Given the description of an element on the screen output the (x, y) to click on. 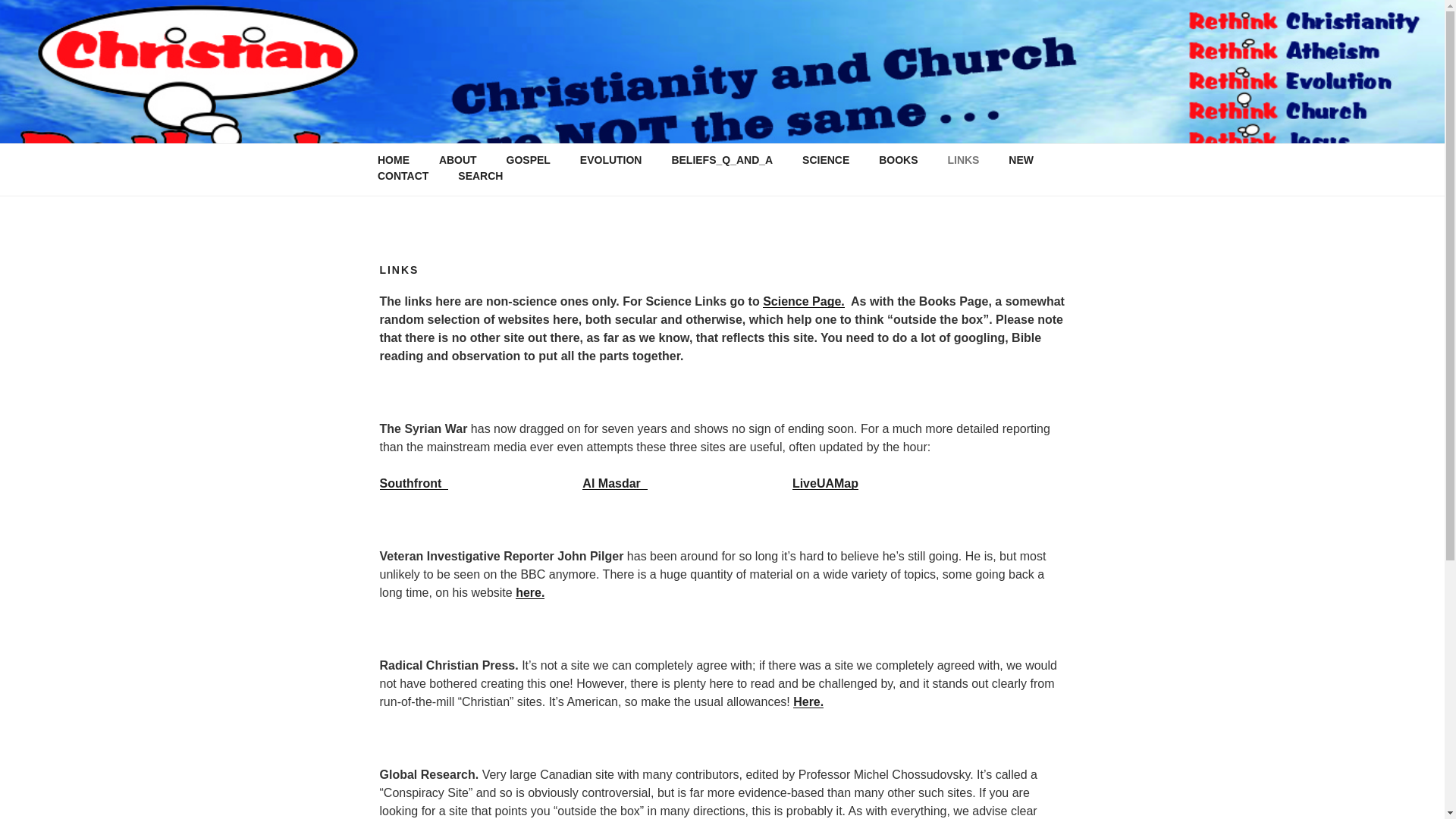
BOOKS (898, 159)
CONTACT (402, 175)
EVOLUTION (610, 159)
SCIENCE (826, 159)
GOSPEL (528, 159)
ABOUT (457, 159)
SEARCH (480, 175)
here. (529, 592)
LINKS (963, 159)
HOME (393, 159)
NEW (1020, 159)
Al Masdar   (614, 482)
LiveUAMap (825, 482)
Science Page. (803, 300)
Southfront   (413, 482)
